Given the description of an element on the screen output the (x, y) to click on. 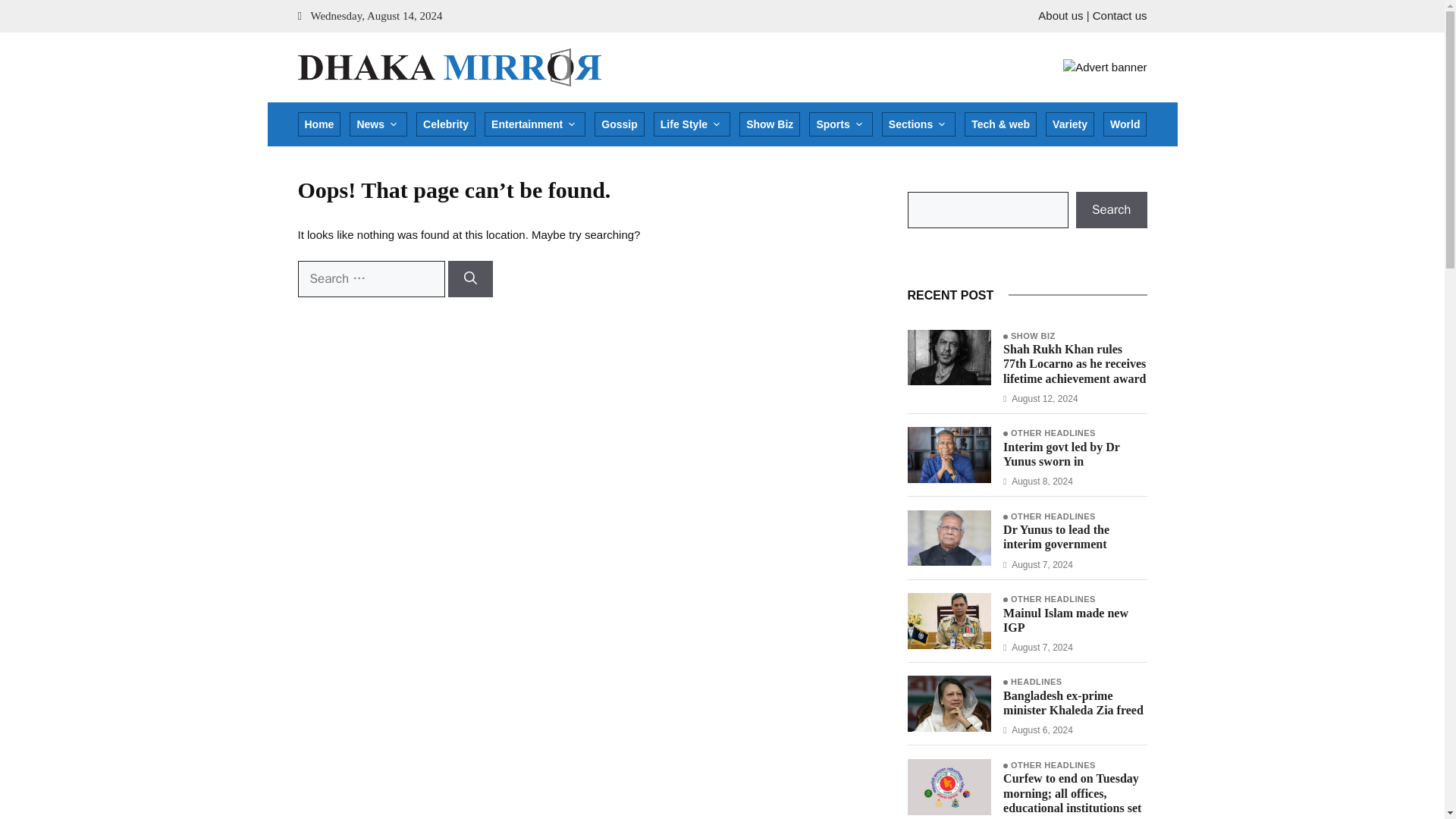
Show Biz (769, 124)
Search for: (370, 279)
Contact us (1120, 15)
Gossip (618, 124)
Entertainment (534, 124)
Life Style (691, 124)
News (378, 124)
Celebrity (446, 124)
About us (1060, 15)
Home (318, 124)
